Given the description of an element on the screen output the (x, y) to click on. 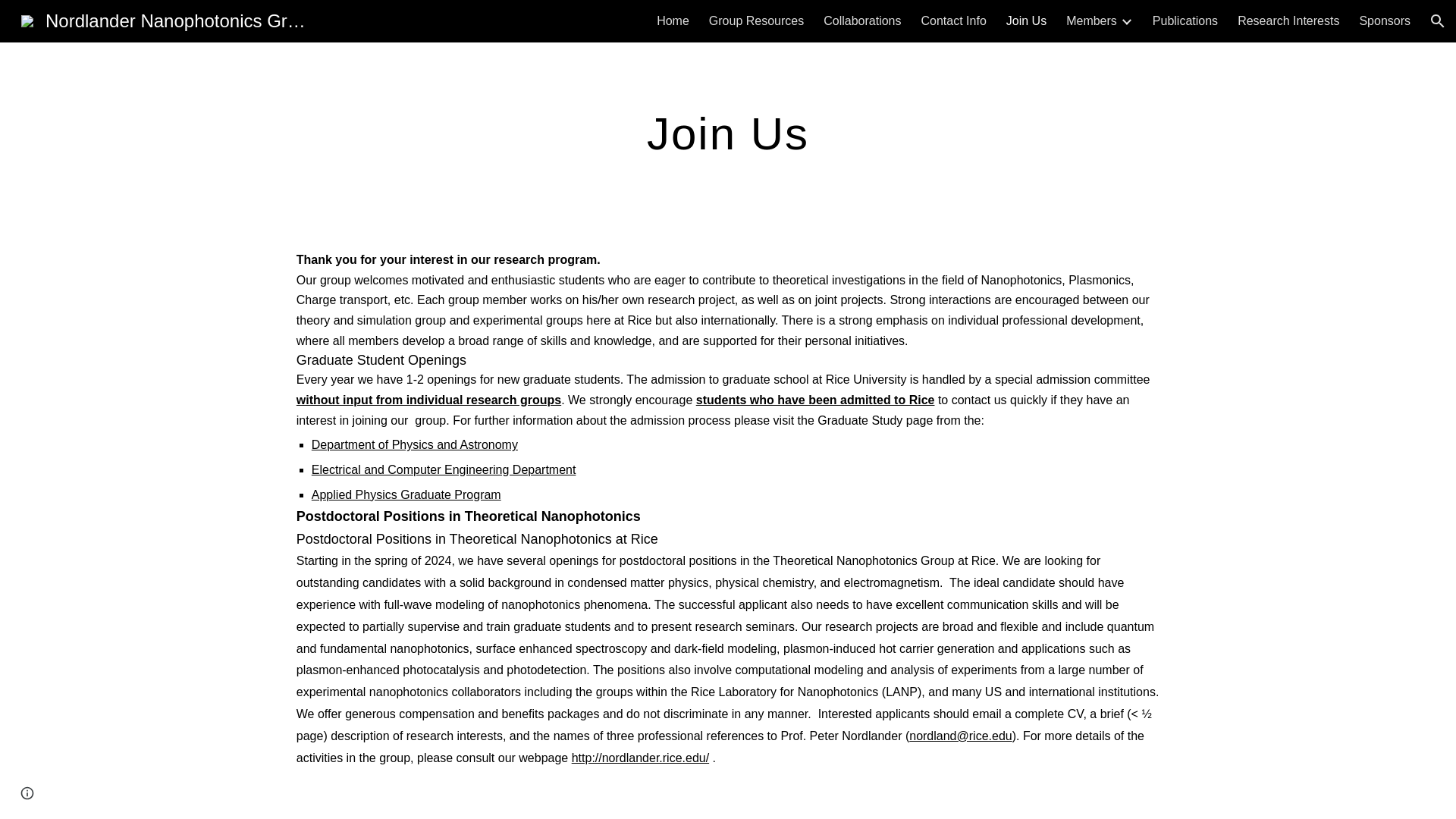
Members (1090, 20)
Home (672, 20)
Collaborations (862, 20)
Contact Info (954, 20)
Nordlander Nanophotonics Group (167, 19)
Join Us (1026, 20)
Group Resources (756, 20)
